Given the description of an element on the screen output the (x, y) to click on. 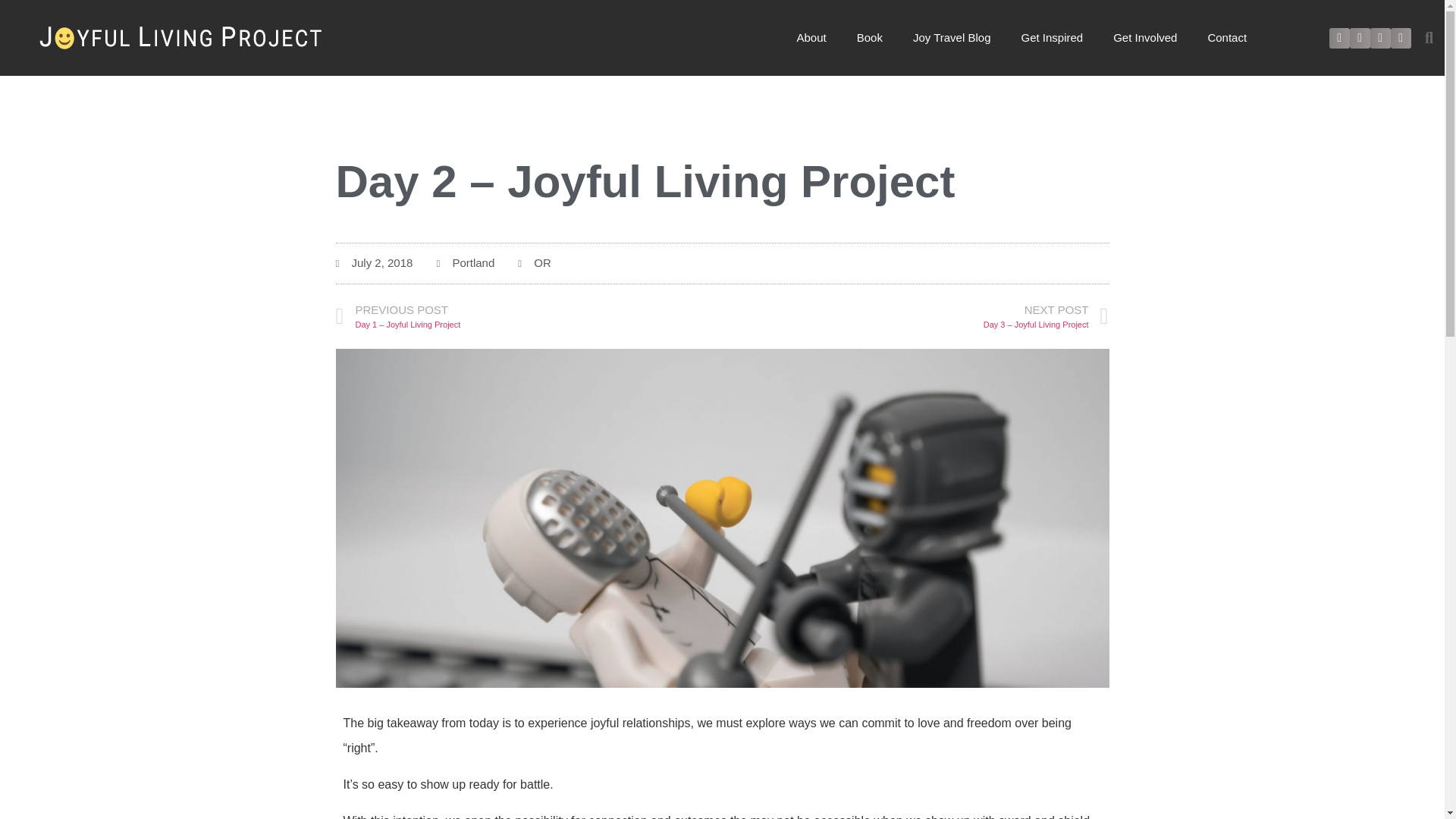
Get Inspired (1051, 38)
Contact (1227, 38)
Book (869, 38)
Joy Travel Blog (952, 38)
Get Involved (1144, 38)
About (811, 38)
